Given the description of an element on the screen output the (x, y) to click on. 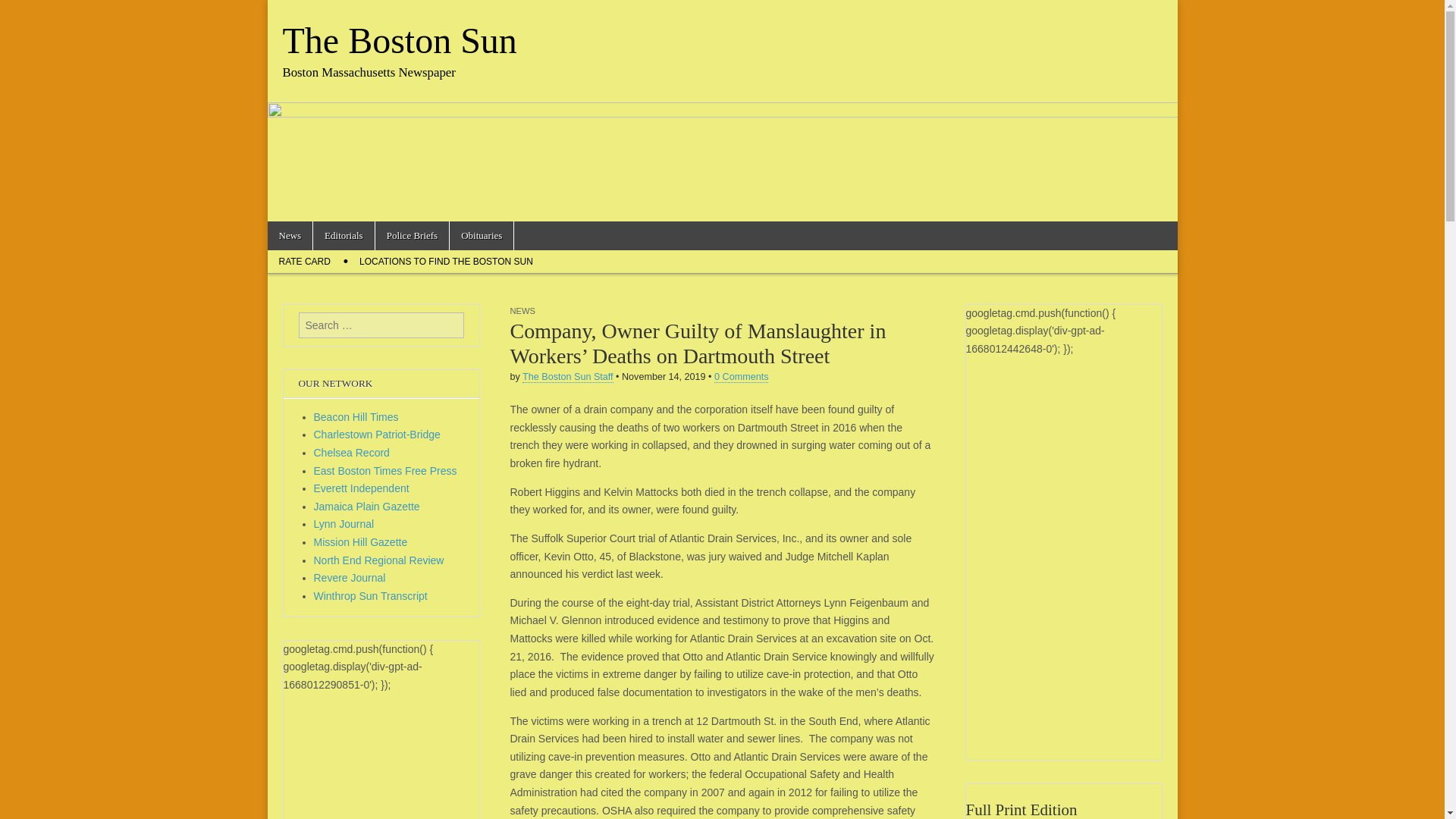
Lynn Journal (344, 523)
Everett Independent (361, 488)
Charlestown Patriot-Bridge (377, 434)
Jamaica Plain Gazette (367, 506)
The Boston Sun (399, 40)
NEWS (522, 310)
North End Regional Review (379, 560)
Obituaries (481, 235)
Editorials (343, 235)
Chelsea Record (352, 452)
Revere Journal (349, 577)
News (289, 235)
